Given the description of an element on the screen output the (x, y) to click on. 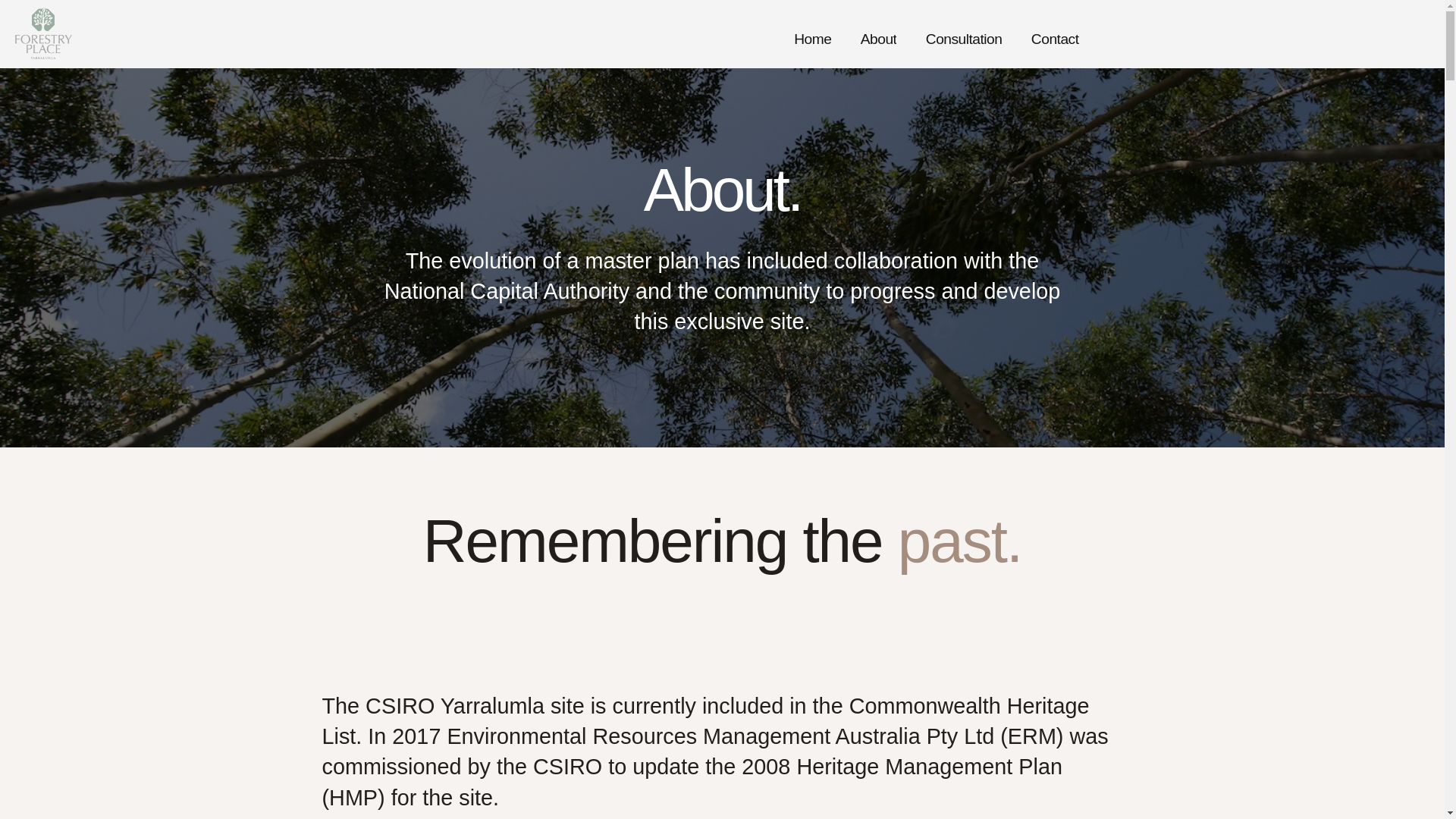
Home Element type: text (812, 41)
Consultation Element type: text (963, 41)
About Element type: text (878, 41)
Contact Element type: text (1055, 41)
